Given the description of an element on the screen output the (x, y) to click on. 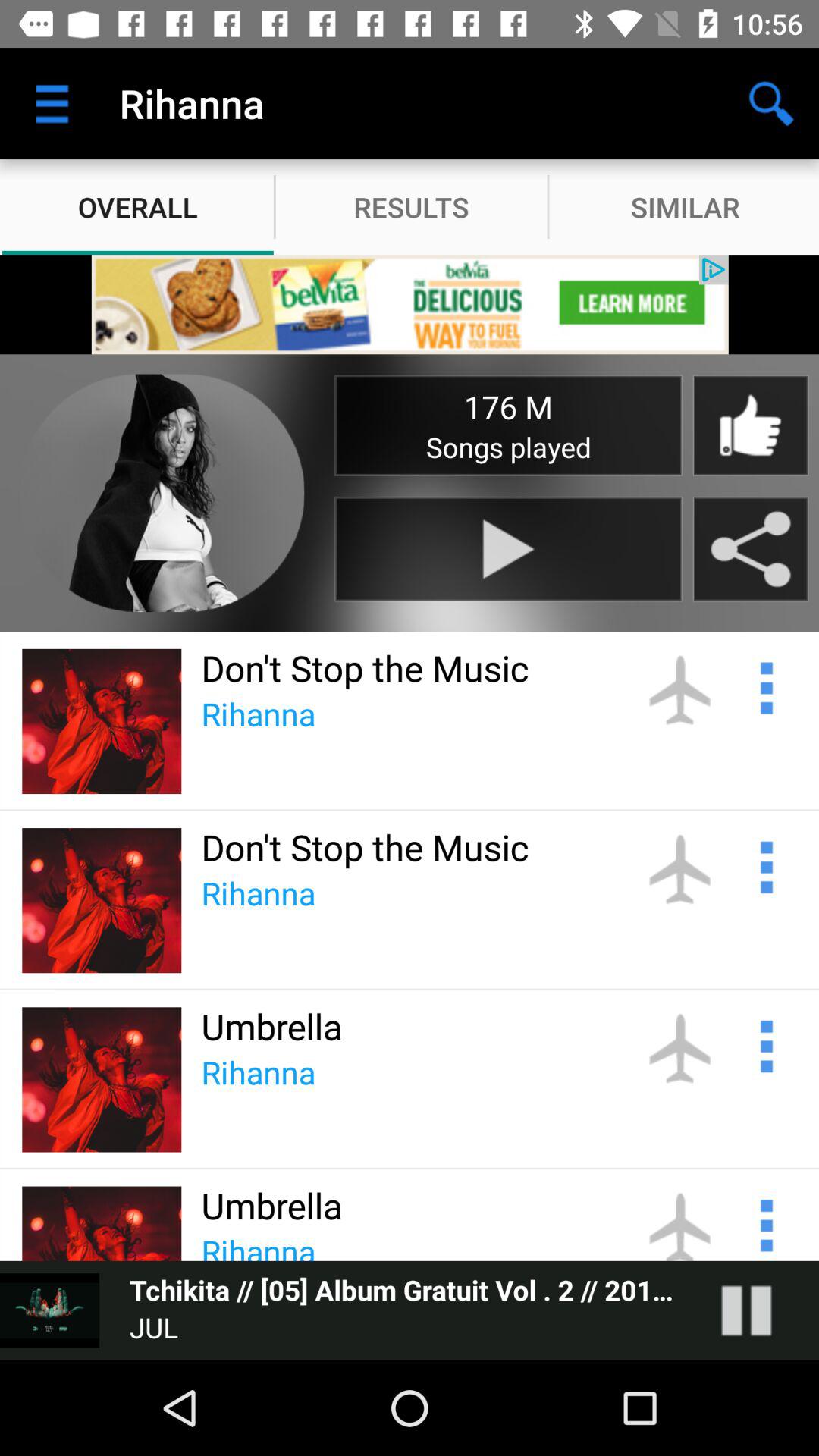
g to share button (750, 548)
